Given the description of an element on the screen output the (x, y) to click on. 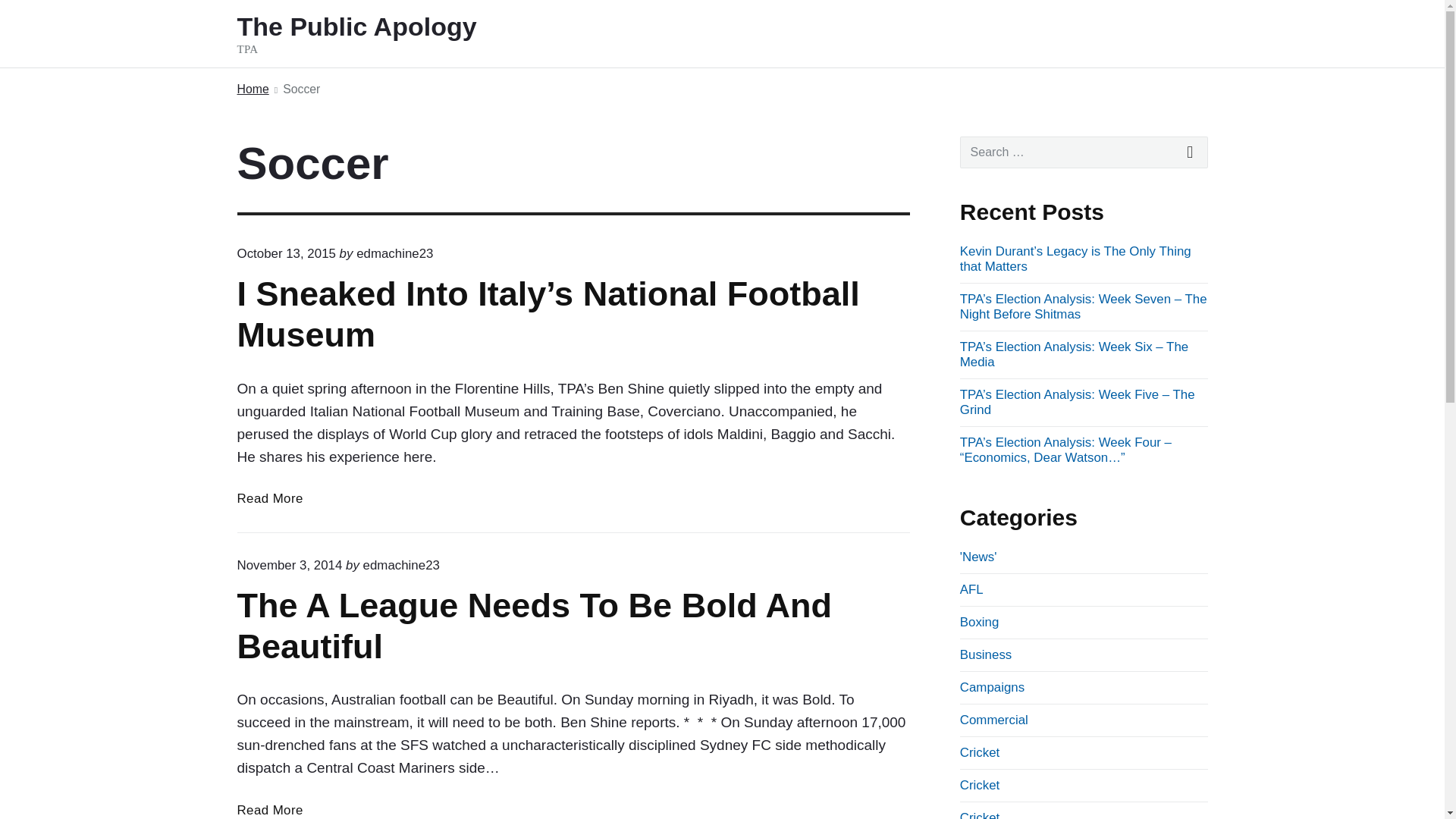
Posts by edmachine23 (394, 253)
SEARCH (1190, 152)
Search for: (1083, 152)
edmachine23 (400, 564)
'News' (978, 556)
The A League Needs To Be Bold And Beautiful (268, 810)
Posts by edmachine23 (400, 564)
edmachine23 (394, 253)
Business (985, 654)
Campaigns (992, 687)
